Given the description of an element on the screen output the (x, y) to click on. 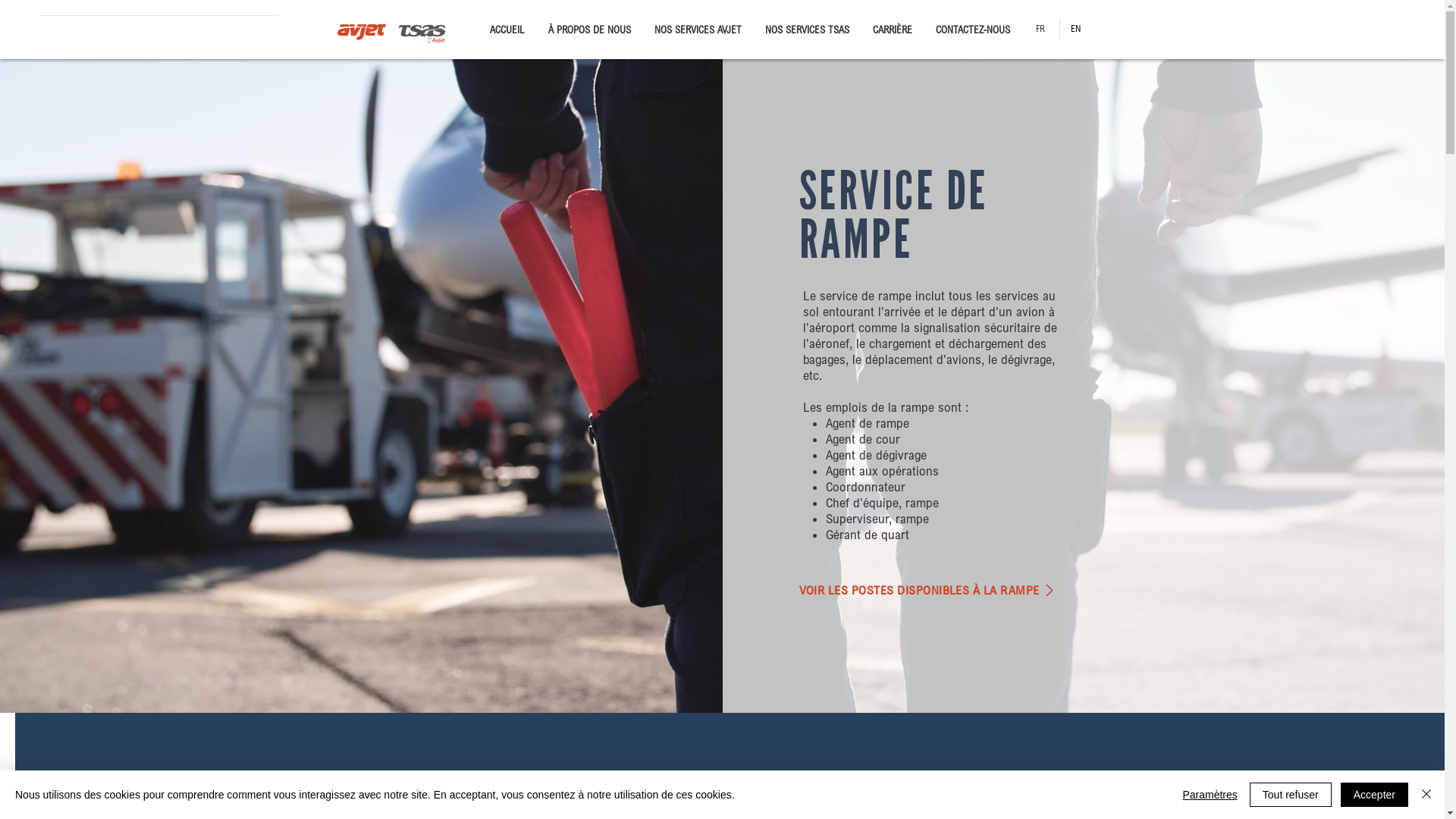
ACCUEIL Element type: text (506, 29)
EN Element type: text (1076, 29)
FR Element type: text (1042, 29)
NOS SERVICES AVJET Element type: text (698, 29)
CONTACTEZ-NOUS Element type: text (971, 29)
NOS SERVICES TSAS Element type: text (807, 29)
Tout refuser Element type: text (1290, 794)
Accepter Element type: text (1374, 794)
